Given the description of an element on the screen output the (x, y) to click on. 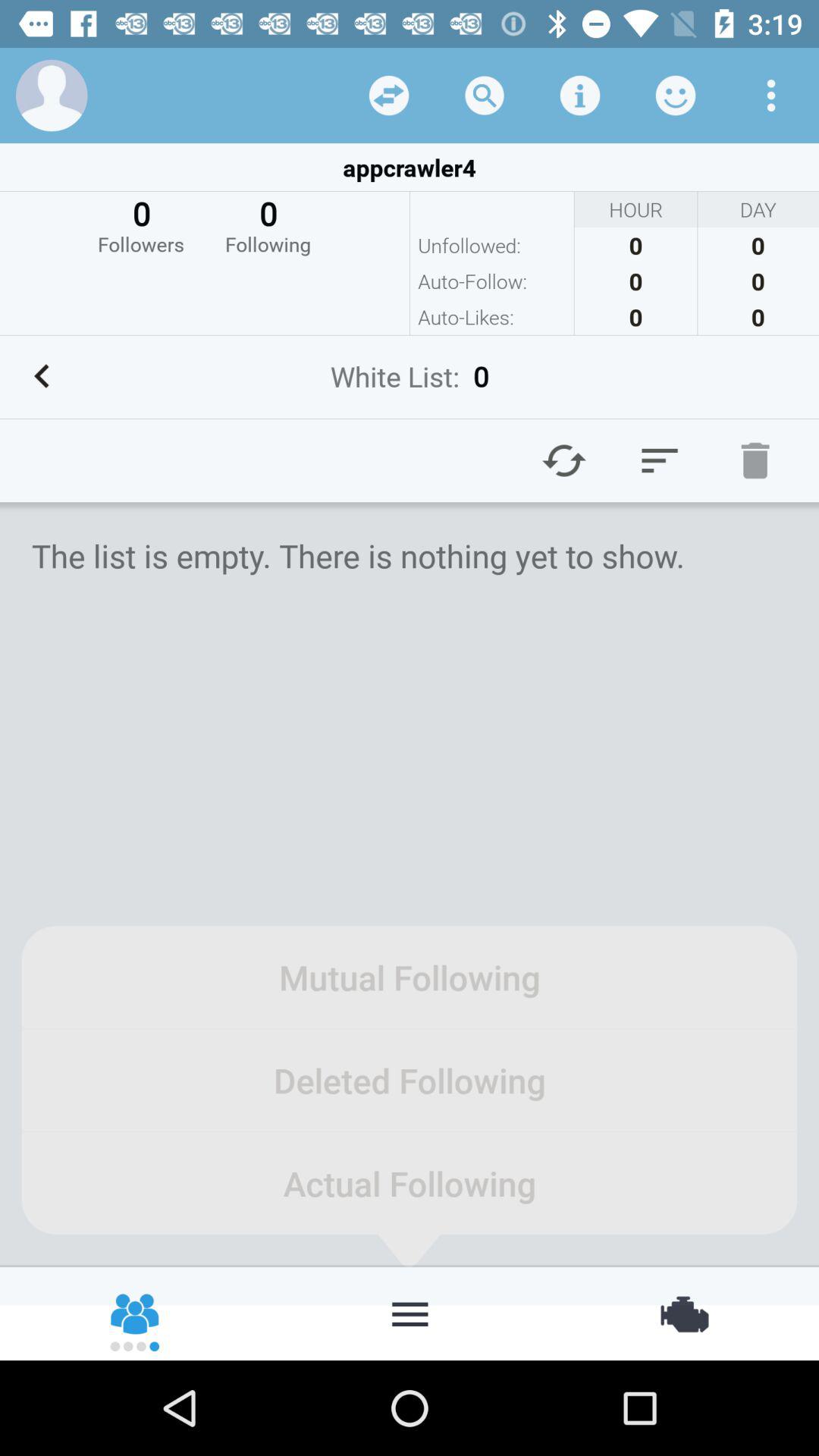
account (51, 95)
